Given the description of an element on the screen output the (x, y) to click on. 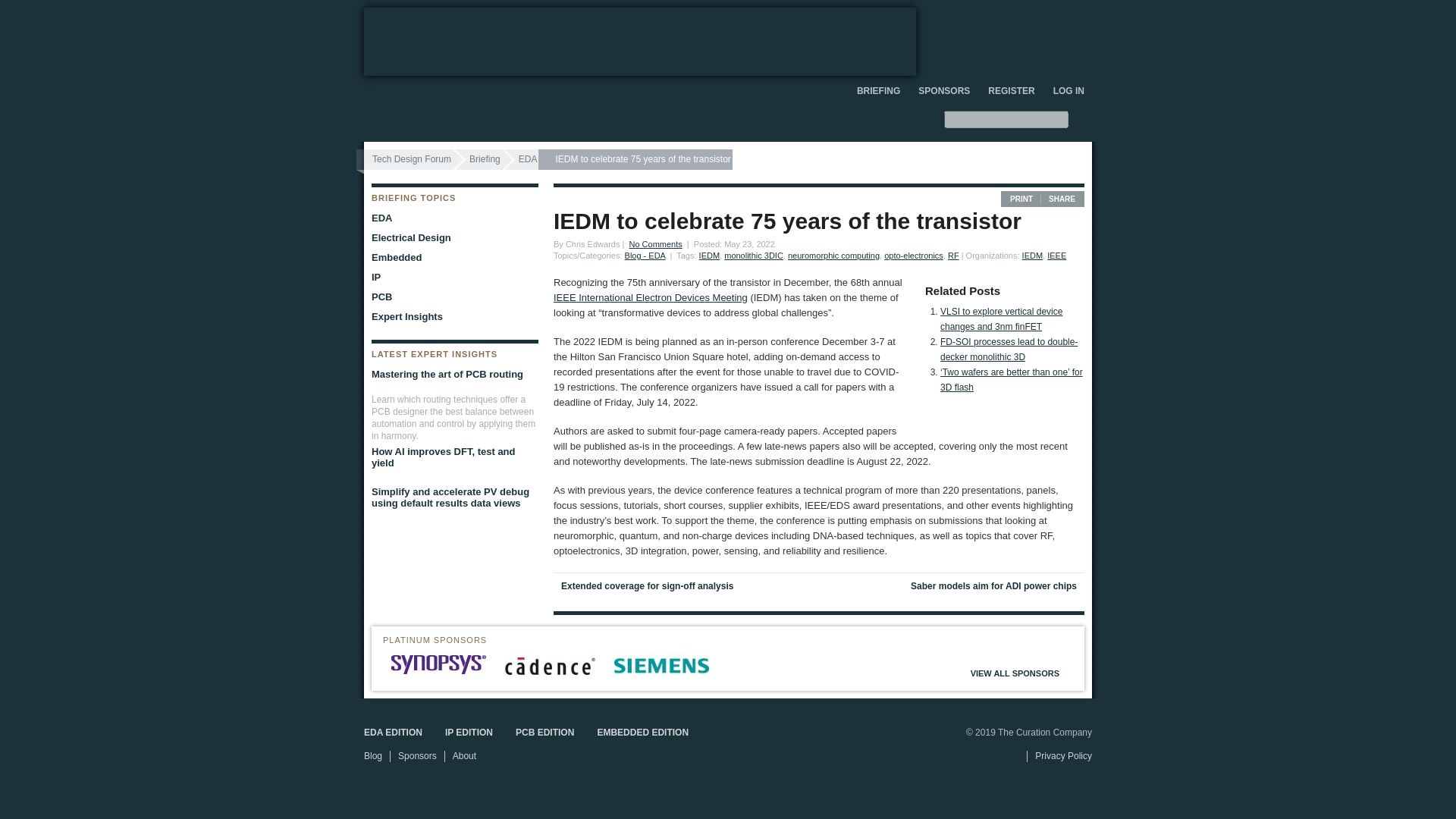
Embedded (451, 257)
PRINT (1021, 198)
Permalink to Mastering the art of PCB routing (451, 374)
Expert Insights (451, 316)
IP (451, 277)
IEEE International Electron Devices Meeting (650, 297)
IEDM (1032, 255)
facebook (1060, 16)
Saber models aim for ADI power chips (955, 585)
